Given the description of an element on the screen output the (x, y) to click on. 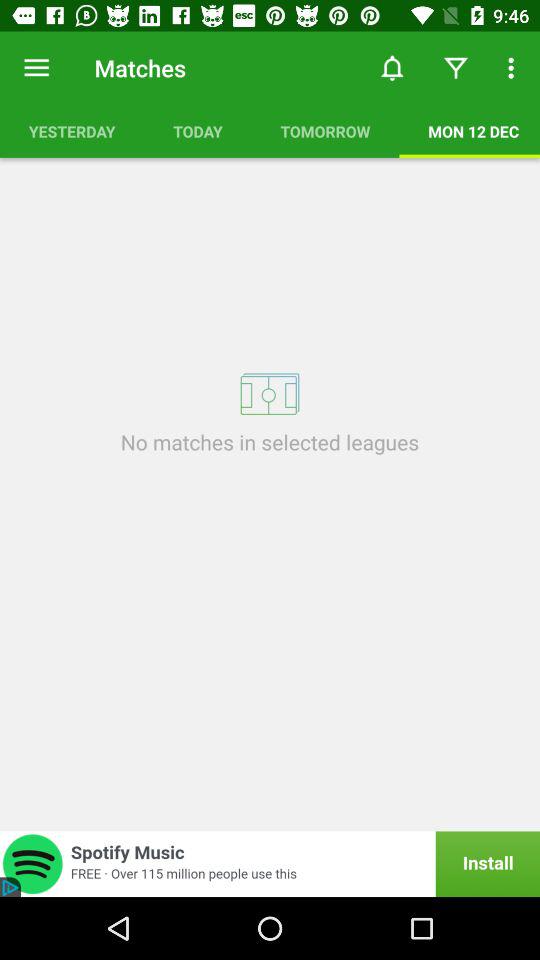
select the icon next to today icon (325, 131)
